Given the description of an element on the screen output the (x, y) to click on. 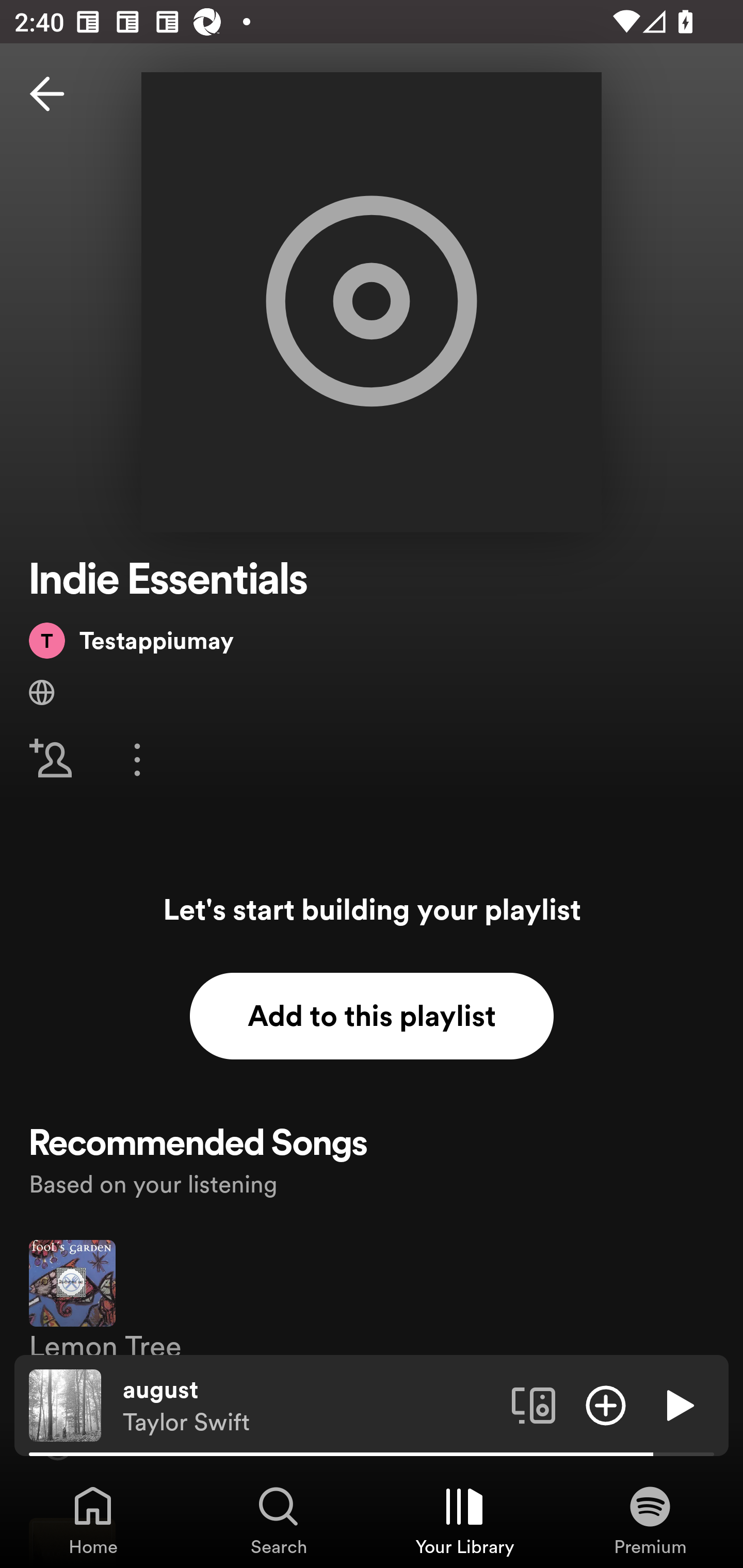
Back (46, 93)
Testappiumay (131, 640)
Invite Friends for playlist (50, 759)
More options for playlist Indie Essentials (136, 759)
Add to this playlist (371, 1015)
august Taylor Swift (309, 1405)
The cover art of the currently playing track (64, 1404)
Connect to a device. Opens the devices menu (533, 1404)
Add item (605, 1404)
Play (677, 1404)
Home, Tab 1 of 4 Home Home (92, 1519)
Search, Tab 2 of 4 Search Search (278, 1519)
Your Library, Tab 3 of 4 Your Library Your Library (464, 1519)
Premium, Tab 4 of 4 Premium Premium (650, 1519)
